Given the description of an element on the screen output the (x, y) to click on. 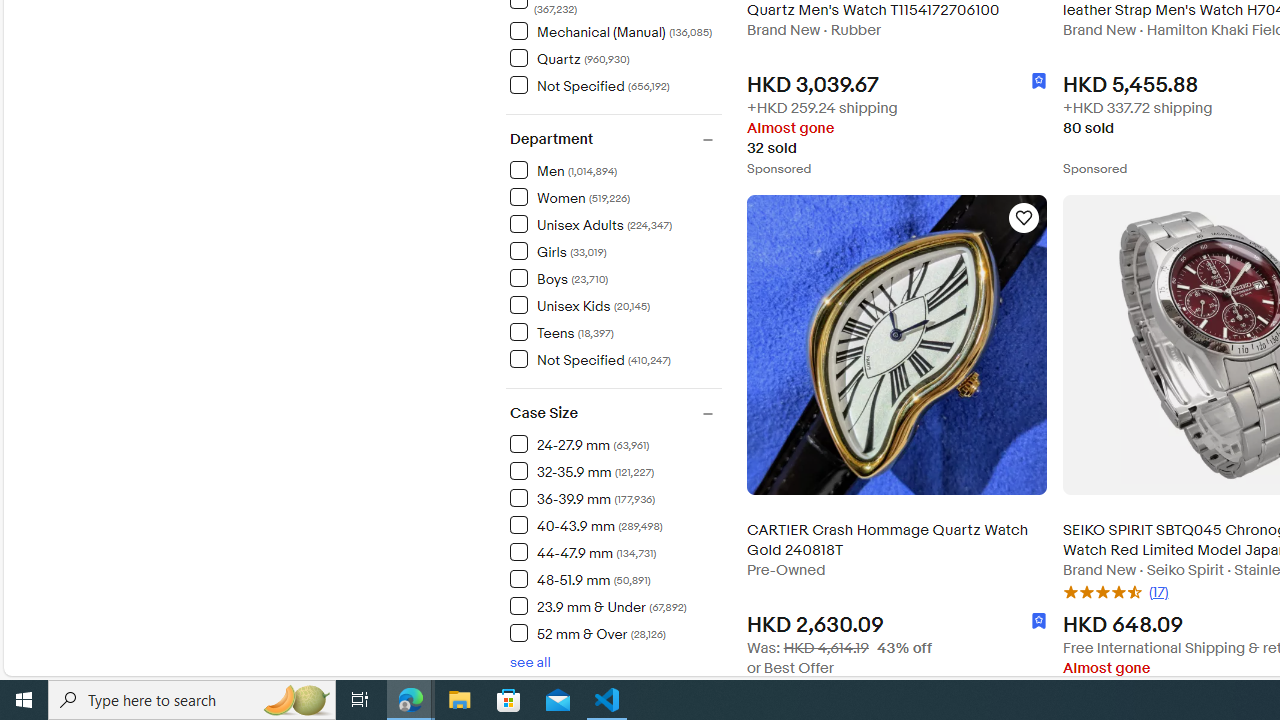
52 mm & Over(28,126) Items (615, 632)
Boys(23,710) Items (615, 277)
32-35.9 mm (121,227) Items (582, 471)
Girls (33,019) Items (557, 250)
Boys (23,710) Items (559, 278)
Case Size (615, 413)
40-43.9 mm (289,498) Items (586, 525)
see all - Case Size - opens dialog (529, 662)
36-39.9 mm(177,936) Items (615, 497)
23.9 mm & Under(67,892) Items (615, 605)
48-51.9 mm(50,891) Items (615, 578)
Women (519,226) Items (570, 196)
Not Specified(656,192) Items (615, 84)
Not Specified (656,192) Items (589, 85)
